Given the description of an element on the screen output the (x, y) to click on. 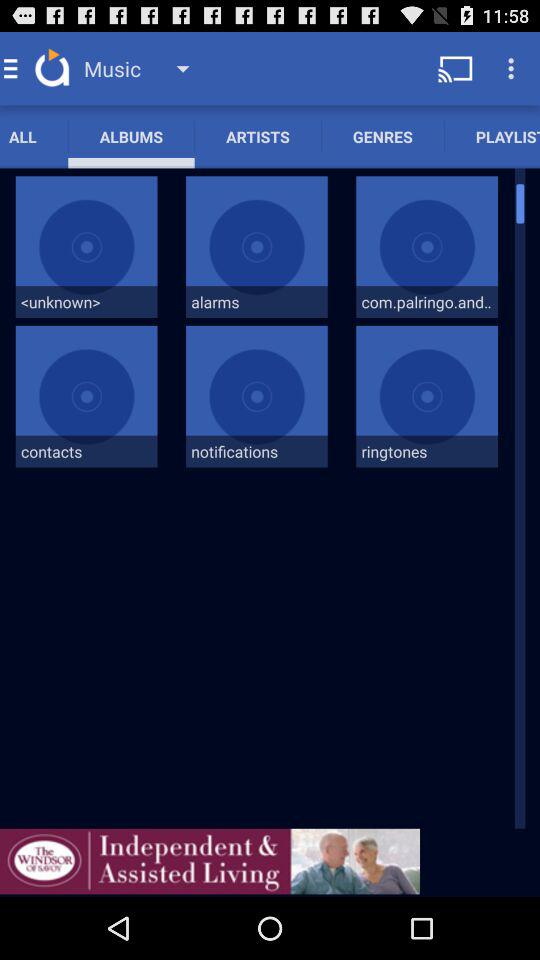
click on genres (381, 136)
